Given the description of an element on the screen output the (x, y) to click on. 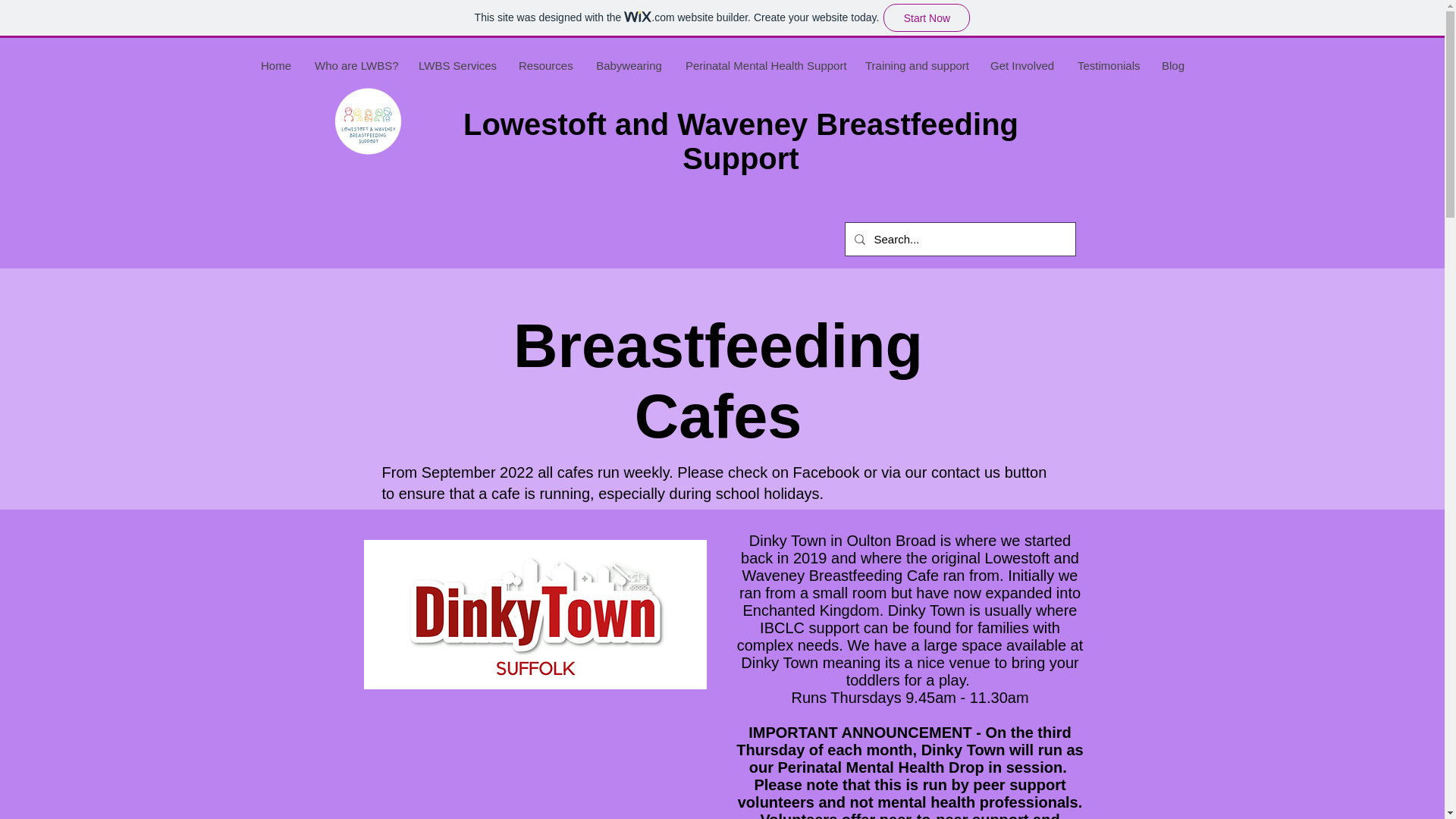
Home (275, 65)
